Given the description of an element on the screen output the (x, y) to click on. 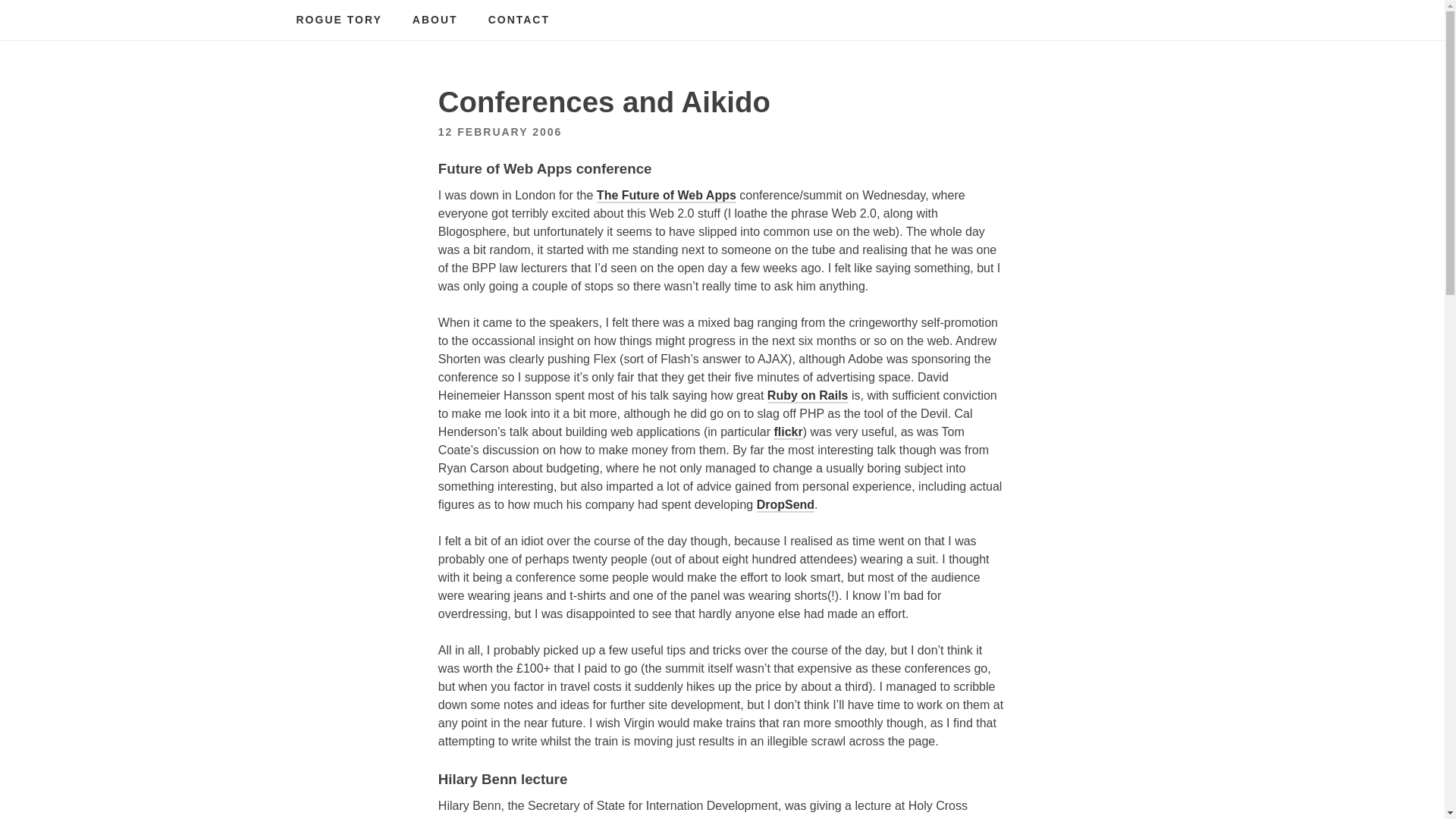
ROGUE TORY (338, 20)
ABOUT (435, 20)
DropSend (785, 504)
Ruby on Rails (807, 396)
CONTACT (518, 20)
The Future of Web Apps (666, 196)
flickr (787, 432)
